Given the description of an element on the screen output the (x, y) to click on. 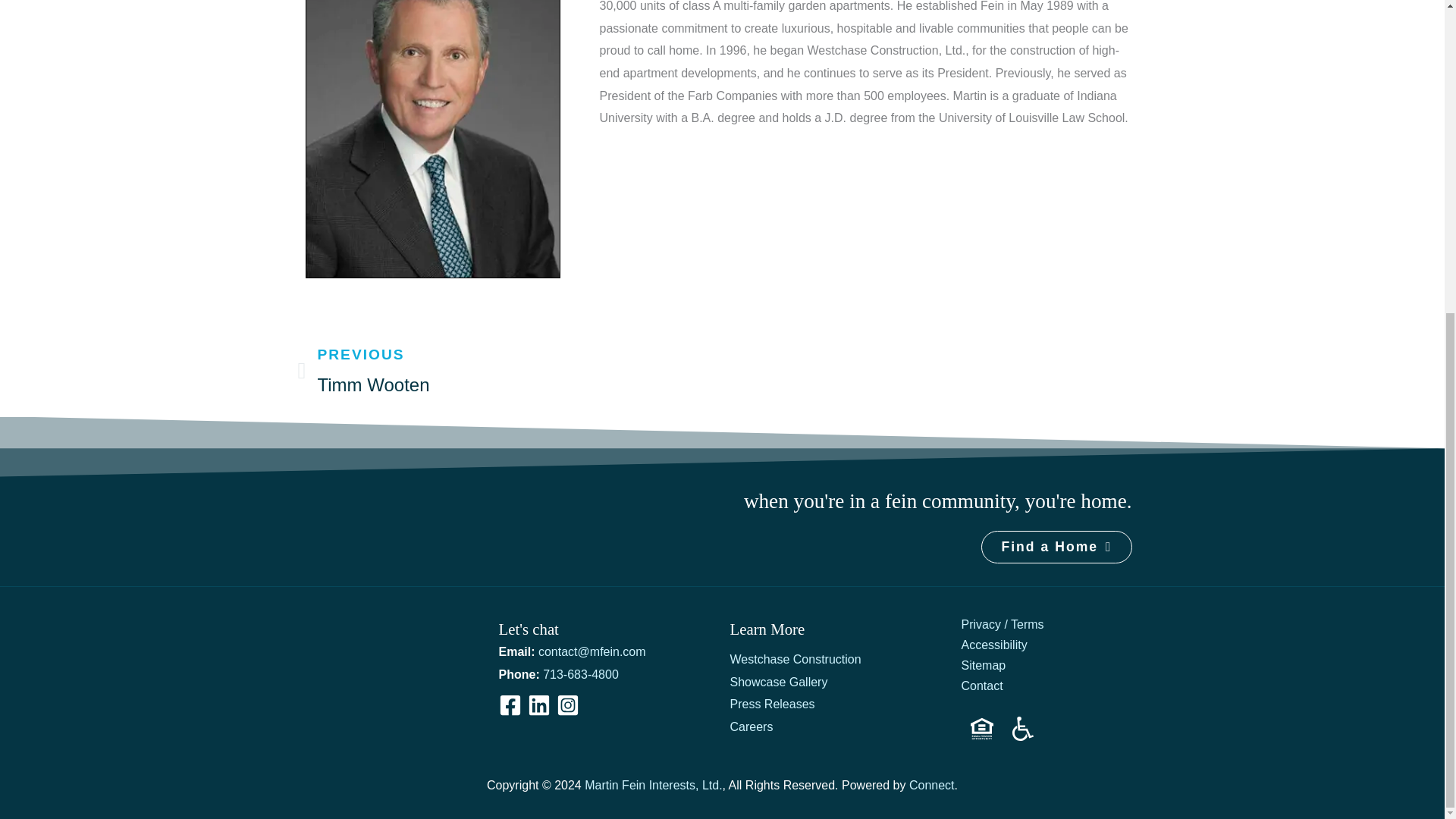
ADA (1022, 728)
HUD (981, 728)
HUD (981, 728)
ADA (1022, 728)
